Given the description of an element on the screen output the (x, y) to click on. 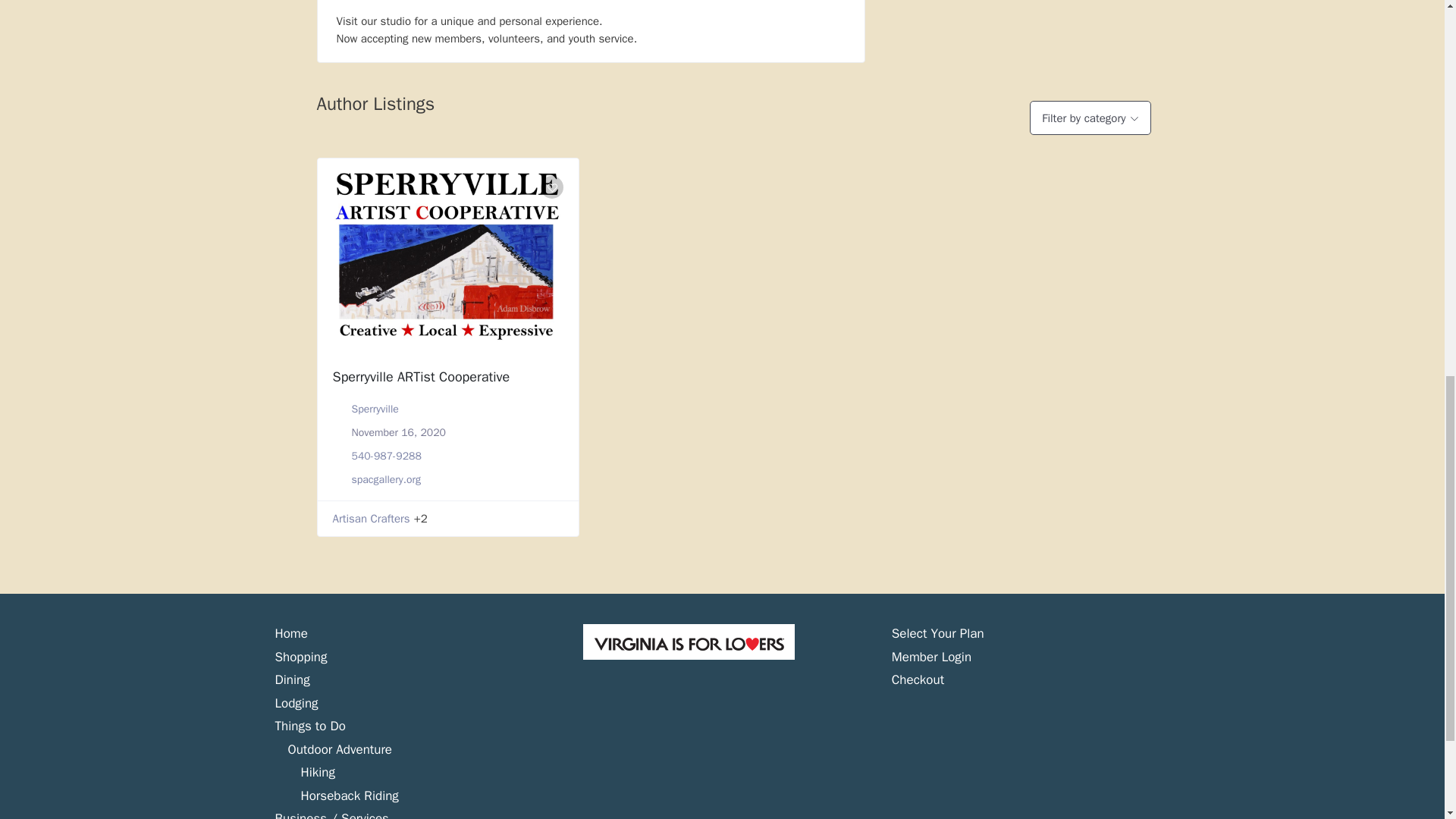
Sperryville (375, 408)
spacgallery.org (386, 479)
Filter by category (1089, 117)
Sperryville ARTist Cooperative (420, 376)
Scroll back to top (1406, 720)
540-987-9288 (387, 455)
Shopping (300, 657)
Artisan Crafters (370, 518)
Home (291, 633)
